Given the description of an element on the screen output the (x, y) to click on. 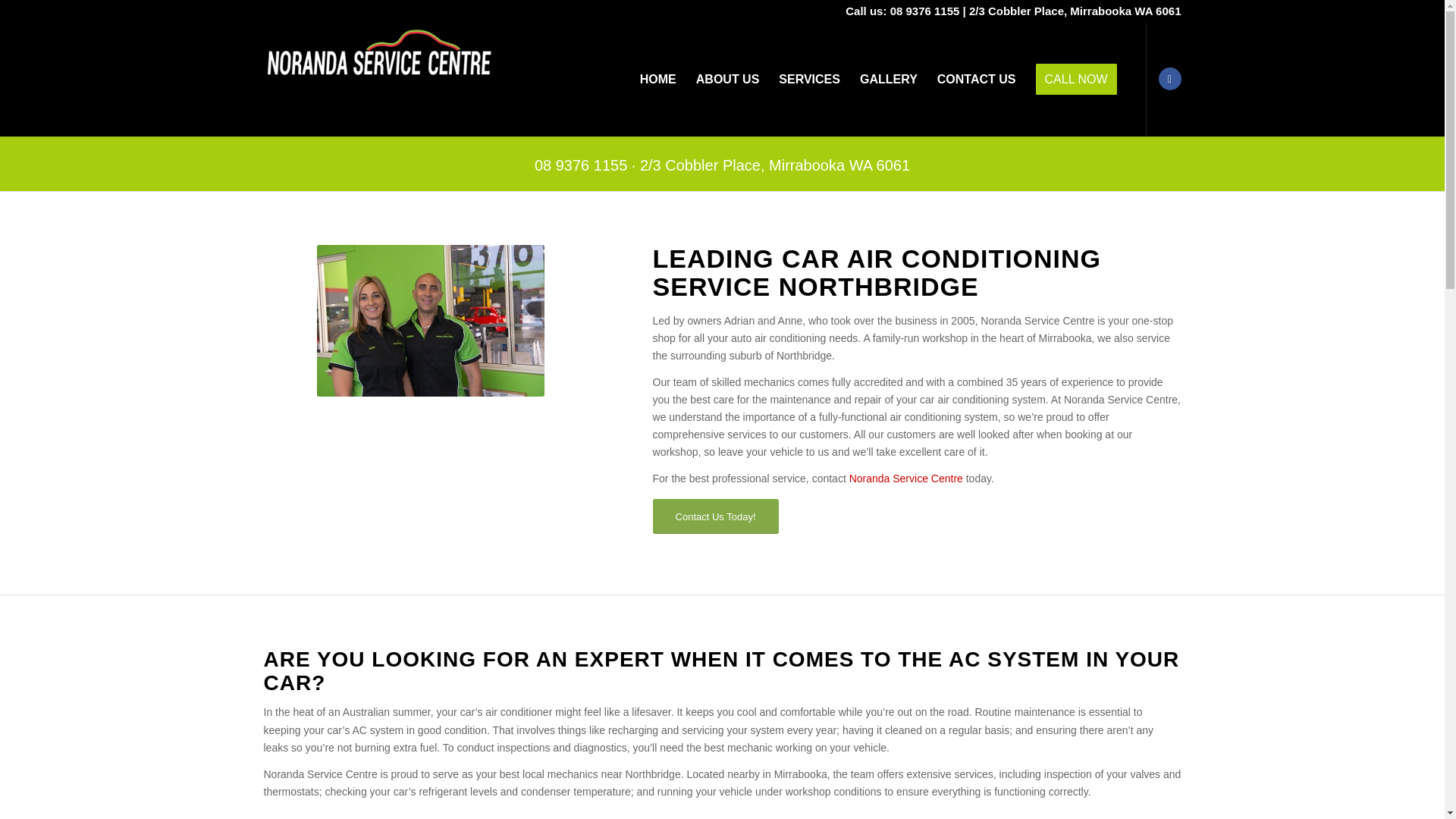
08 9376 1155 (924, 10)
Contact Us Today! (715, 515)
Facebook (1169, 78)
08 9376 1155 (580, 165)
Noranda Service Centre (905, 478)
